Given the description of an element on the screen output the (x, y) to click on. 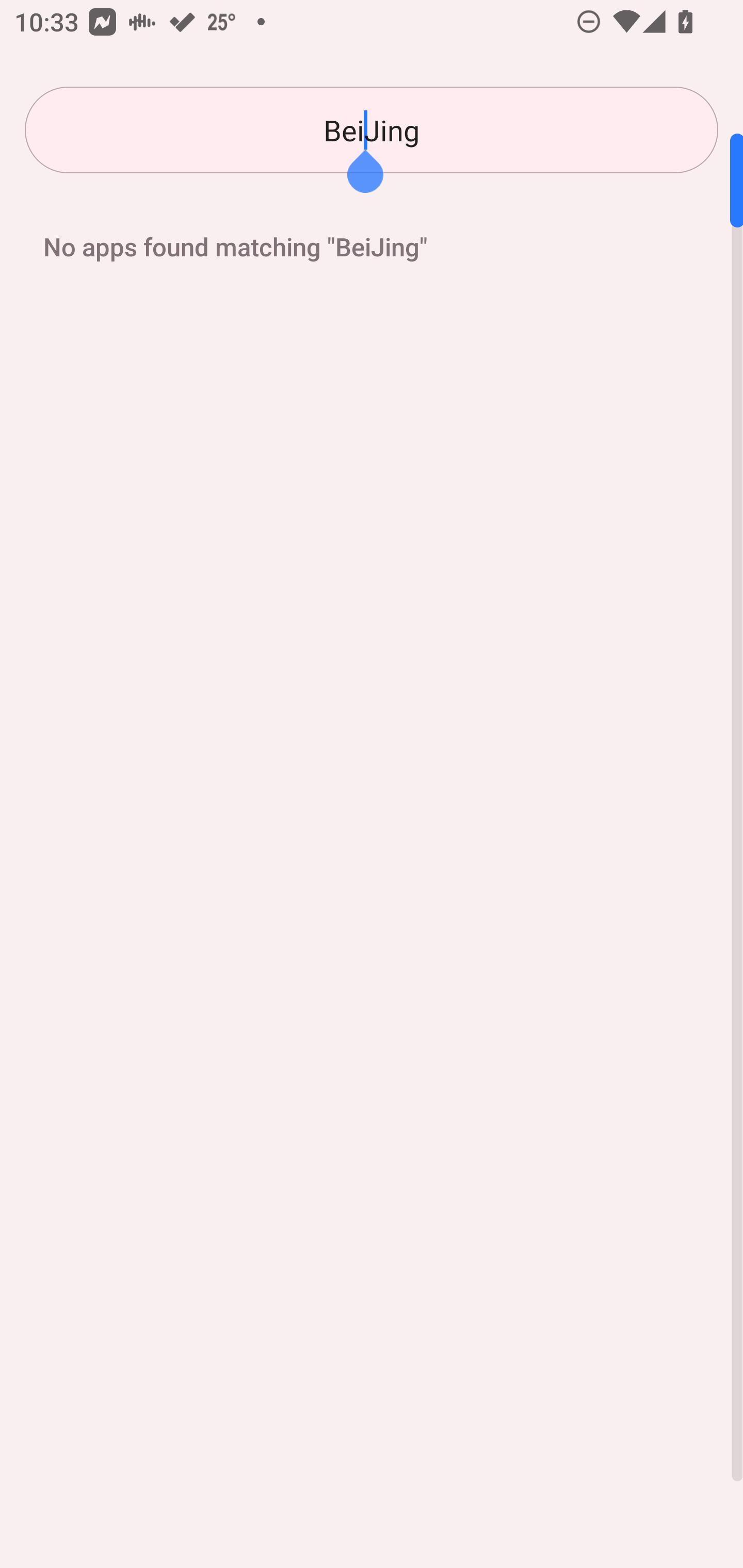
BeiJing (371, 130)
